Given the description of an element on the screen output the (x, y) to click on. 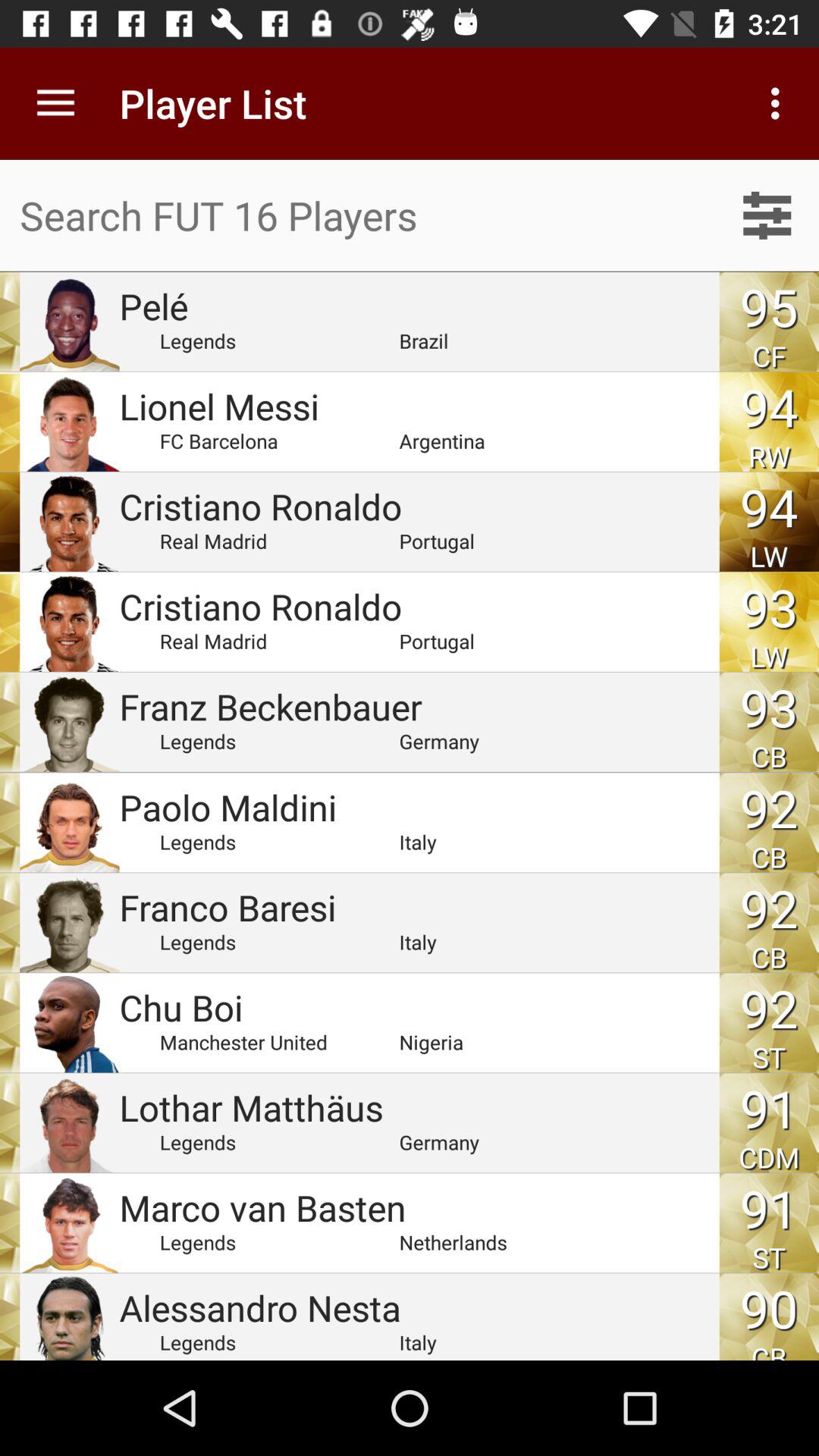
settings (767, 215)
